Given the description of an element on the screen output the (x, y) to click on. 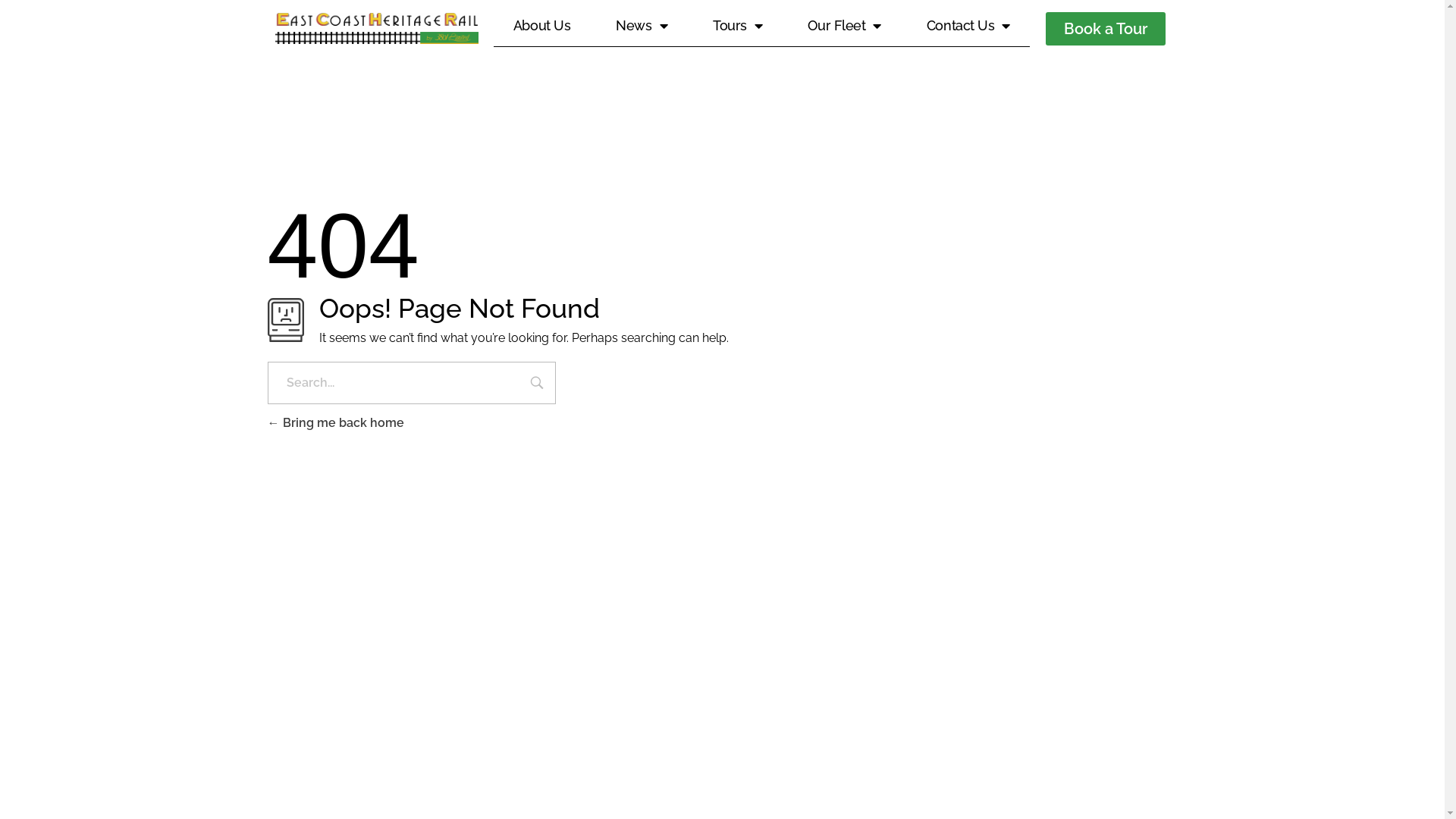
Our Fleet Element type: text (844, 25)
Book a Tour Element type: text (1105, 28)
Search Element type: text (536, 384)
Contact Us Element type: text (968, 25)
Tours Element type: text (737, 25)
News Element type: text (641, 25)
About Us Element type: text (541, 25)
Bring me back home Element type: text (334, 422)
